Given the description of an element on the screen output the (x, y) to click on. 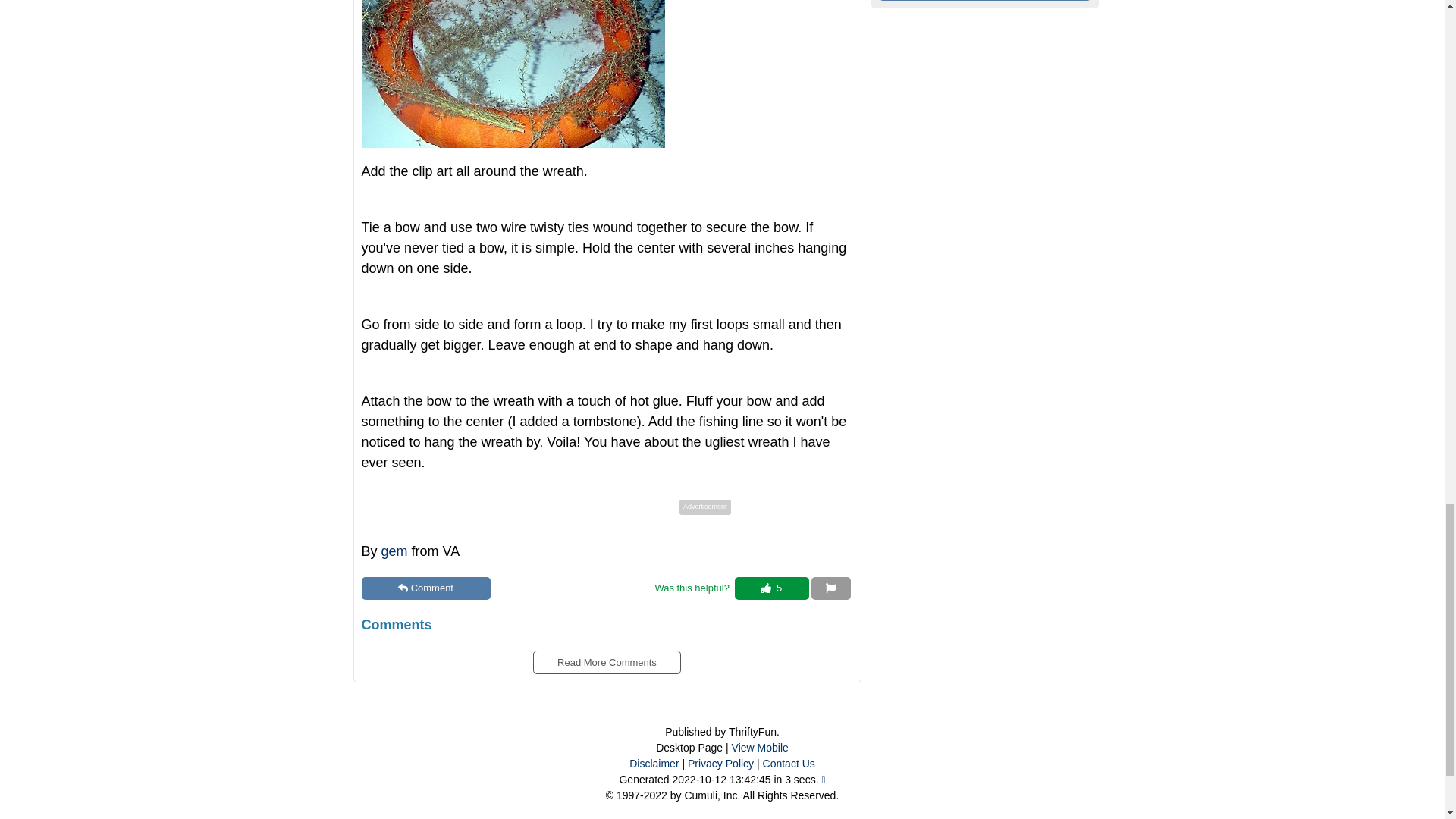
 Comment (425, 588)
gem (394, 550)
Read More Comments (605, 657)
